Given the description of an element on the screen output the (x, y) to click on. 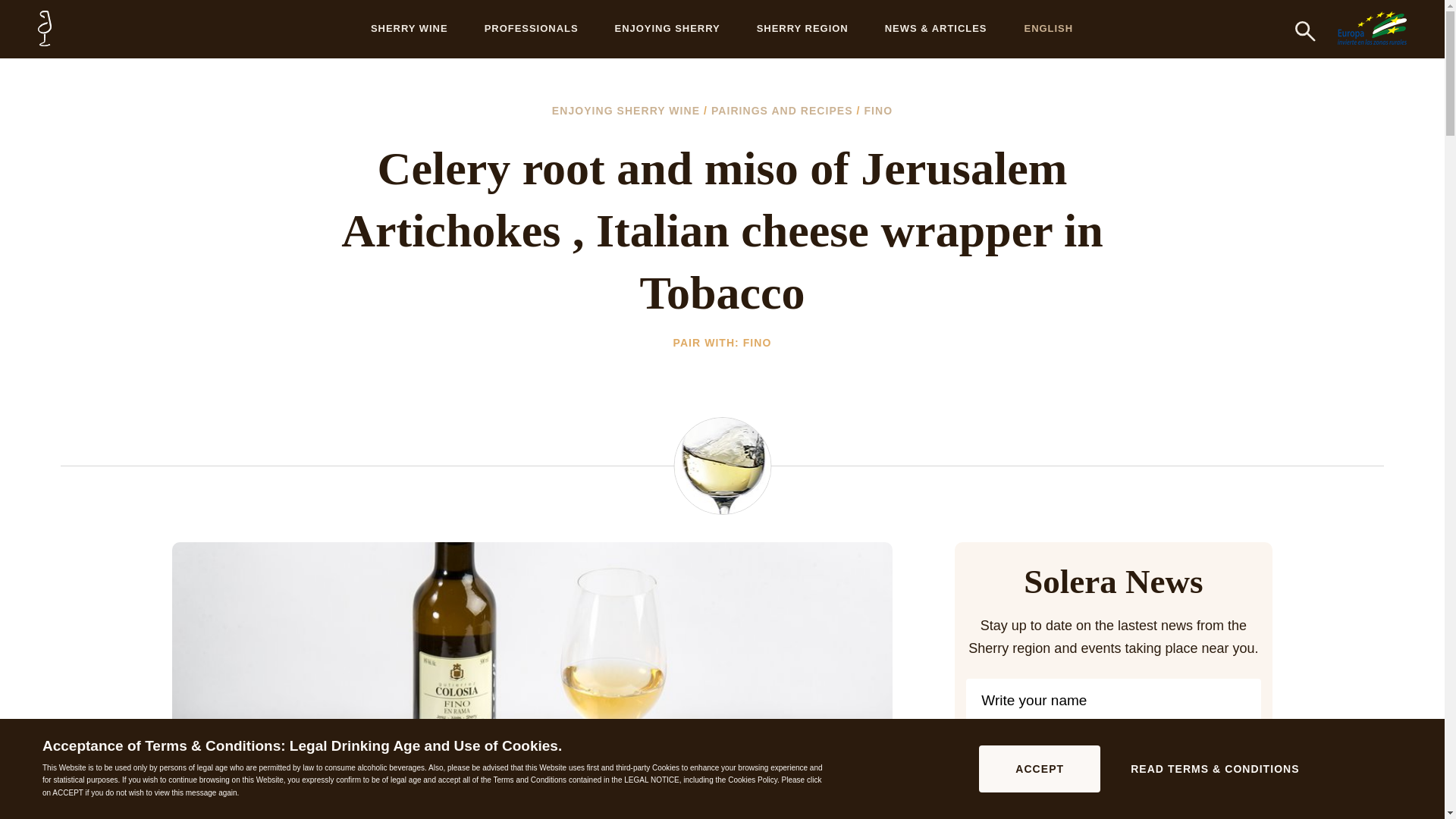
PROFESSIONALS (530, 29)
SHERRY WINE (408, 29)
